Given the description of an element on the screen output the (x, y) to click on. 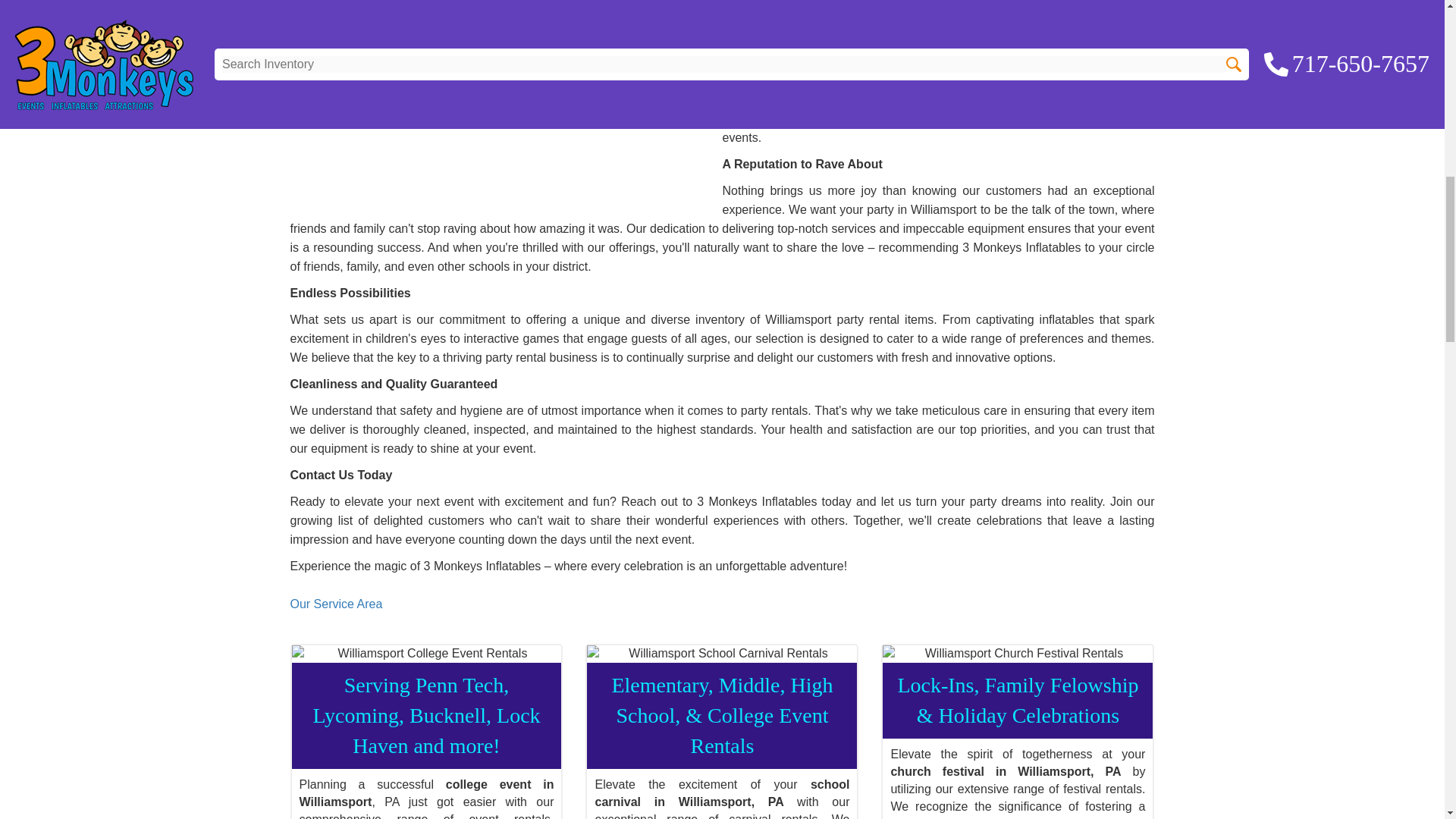
Williamsport Church Festival Rentals (1017, 653)
Williamsport School Carnival Rentals (721, 653)
Williamsport College Event Rentals (425, 653)
Inflatable Bounce Party Rentals (495, 100)
